Given the description of an element on the screen output the (x, y) to click on. 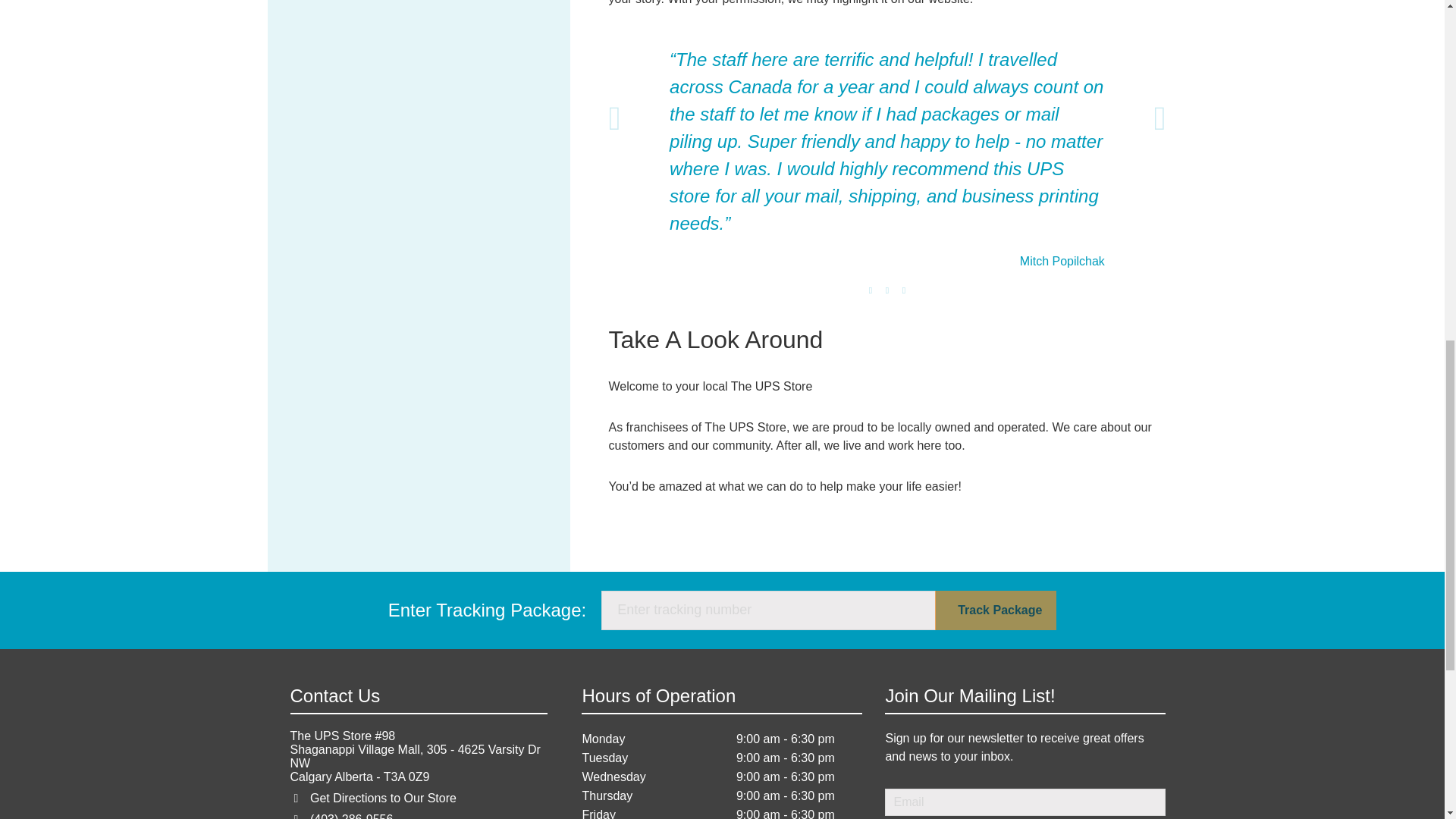
Get Directions to Our Store (383, 797)
Track Package (995, 609)
